Given the description of an element on the screen output the (x, y) to click on. 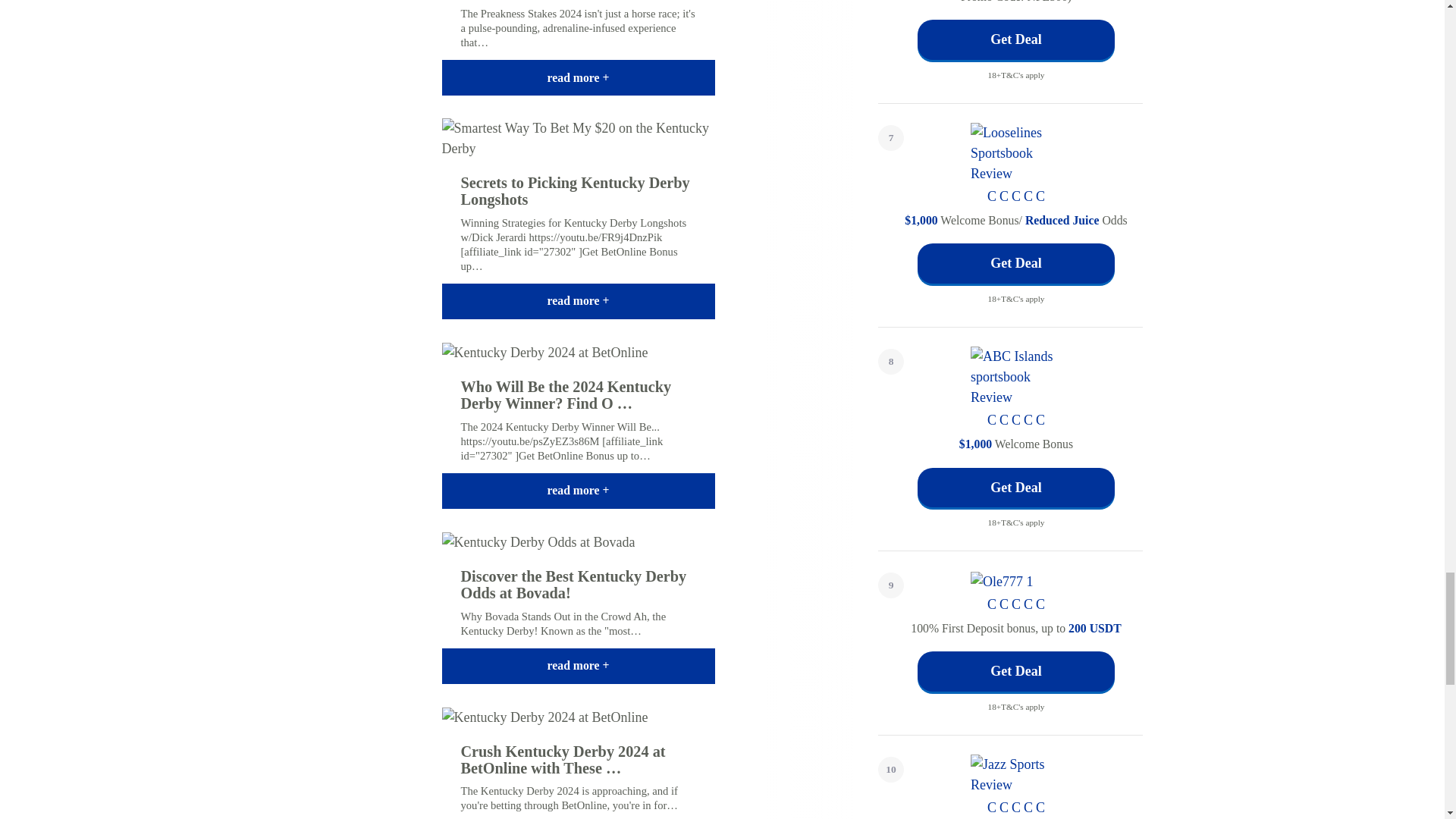
Who Will Be the 2024 Kentucky Derby Winner? Find Out Now! 7 (544, 353)
Secrets to Picking Kentucky Derby Longshots 6 (577, 137)
Discover the Best Kentucky Derby Odds at Bovada! 8 (537, 542)
